Given the description of an element on the screen output the (x, y) to click on. 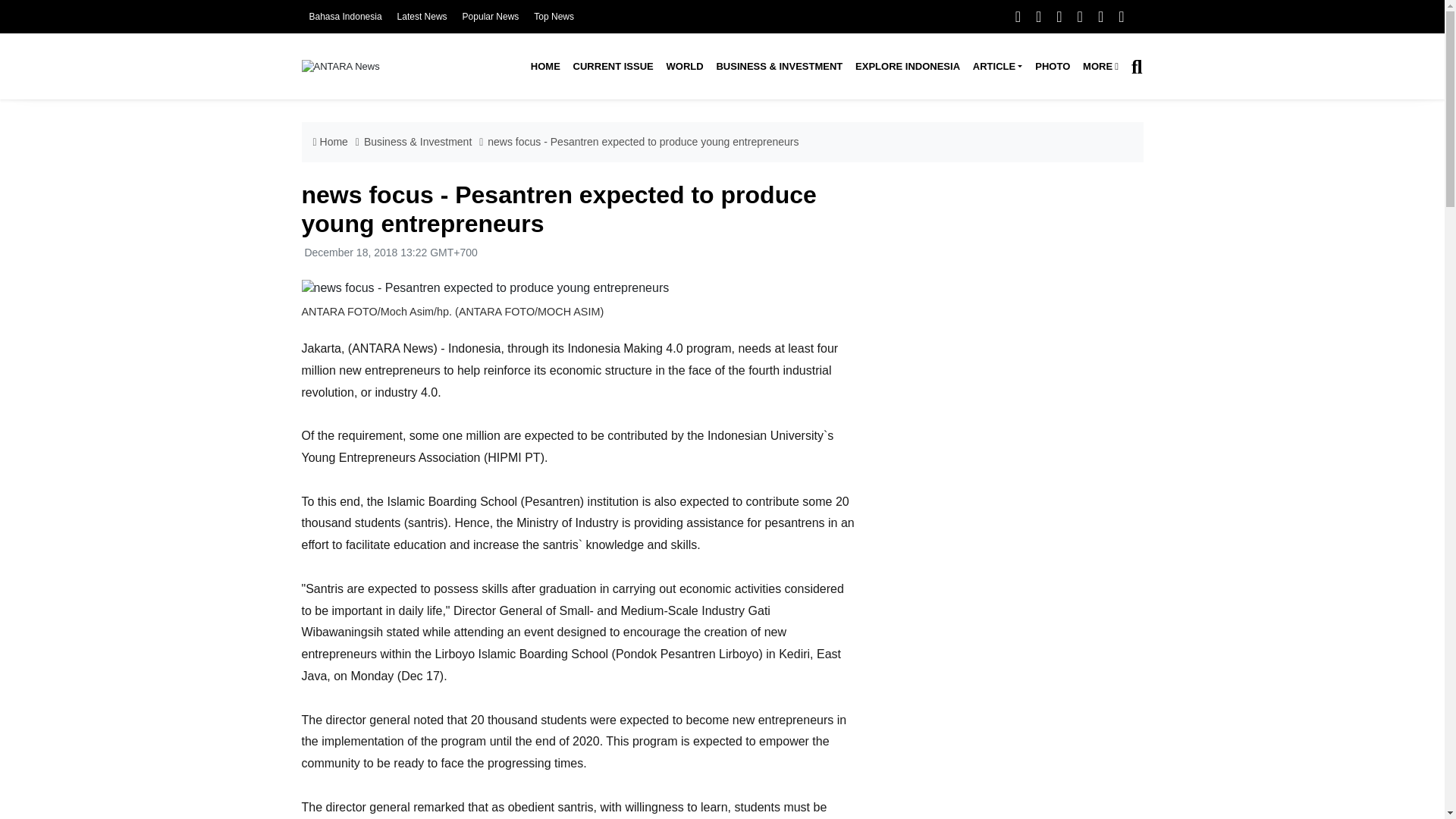
EXPLORE INDONESIA (907, 66)
Current Issue (612, 66)
Popular News (491, 16)
Top News (553, 16)
ANTARA News (340, 66)
Top News (553, 16)
Bahasa Indonesia (344, 16)
ARTICLE (996, 66)
Latest News (421, 16)
Latest News (421, 16)
Bahasa Indonesia (344, 16)
CURRENT ISSUE (612, 66)
Article (996, 66)
Explore Indonesia (907, 66)
